Given the description of an element on the screen output the (x, y) to click on. 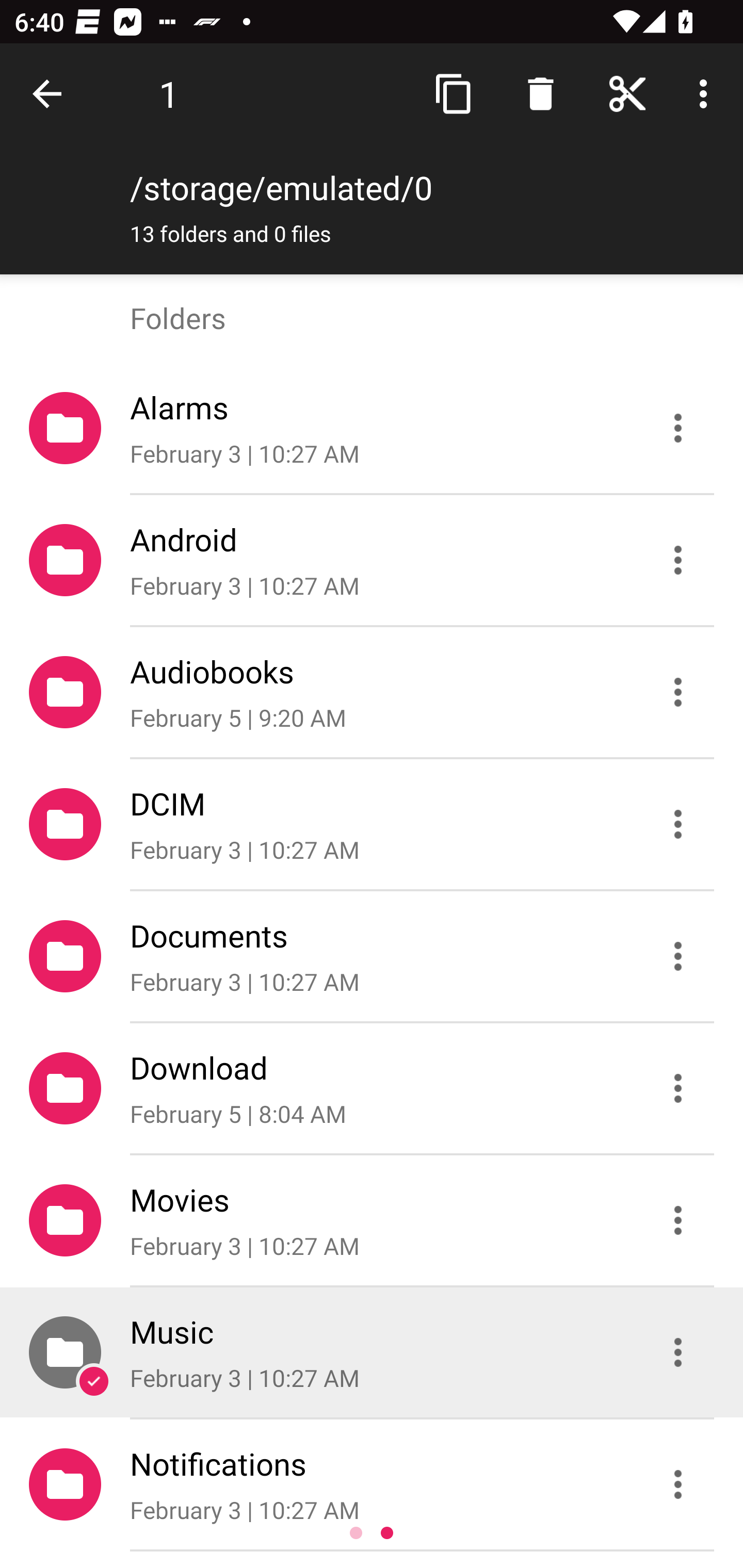
1 (169, 93)
Done (50, 93)
Copy (453, 93)
Search (540, 93)
Home (626, 93)
More options (706, 93)
Alarms February 3 | 10:27 AM (371, 427)
Android February 3 | 10:27 AM (371, 560)
Audiobooks February 5 | 9:20 AM (371, 692)
DCIM February 3 | 10:27 AM (371, 823)
Documents February 3 | 10:27 AM (371, 955)
Download February 5 | 8:04 AM (371, 1088)
Movies February 3 | 10:27 AM (371, 1220)
Music February 3 | 10:27 AM (371, 1352)
Notifications February 3 | 10:27 AM (371, 1484)
